Given the description of an element on the screen output the (x, y) to click on. 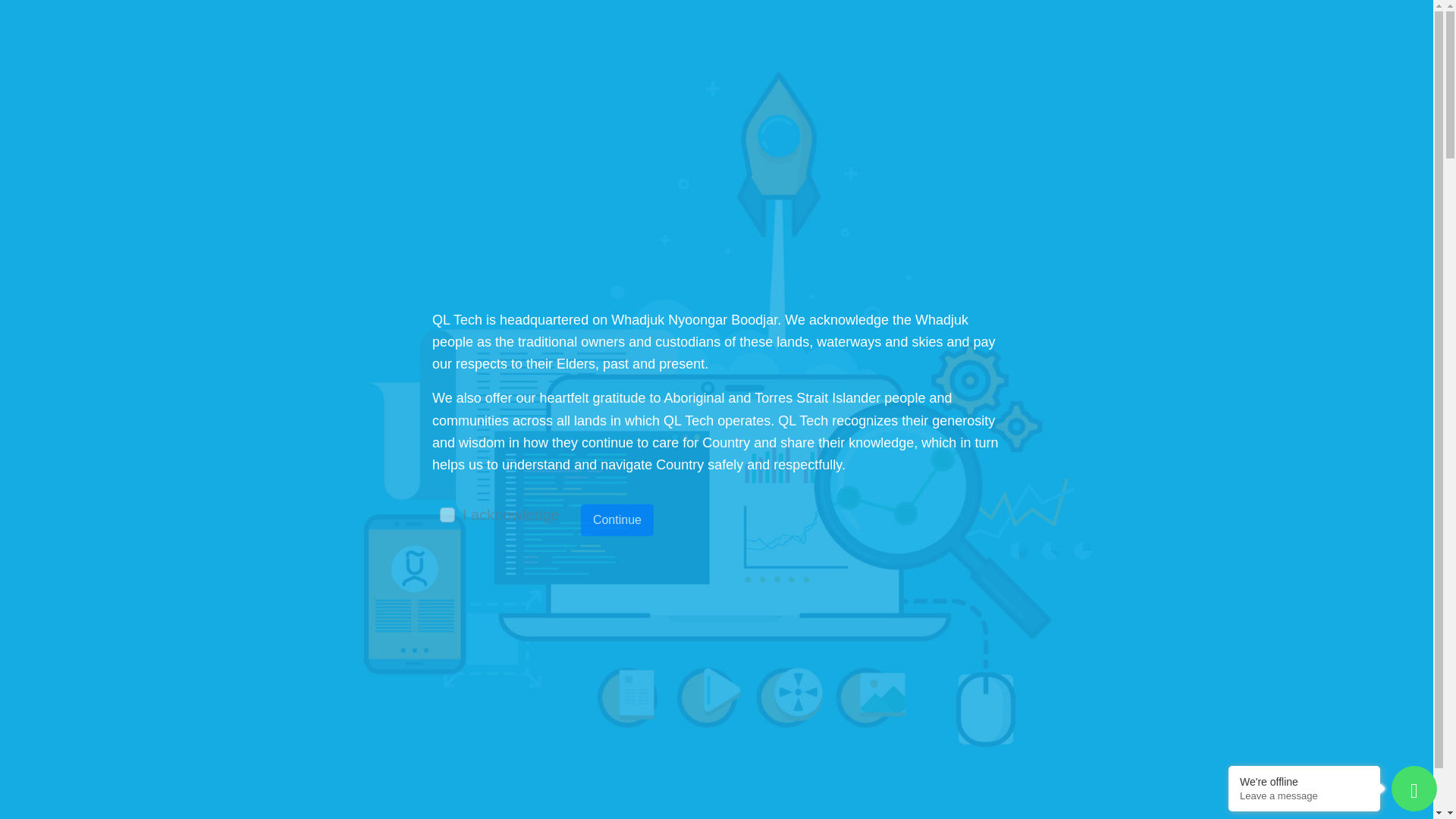
Contact Us (1083, 76)
Send Email (1067, 32)
Process (705, 76)
Career (984, 76)
on (446, 514)
Services (610, 76)
Leave a message (1304, 795)
Knowledge Hub (878, 76)
We're offline (1304, 781)
About (524, 76)
Work (780, 76)
